Given the description of an element on the screen output the (x, y) to click on. 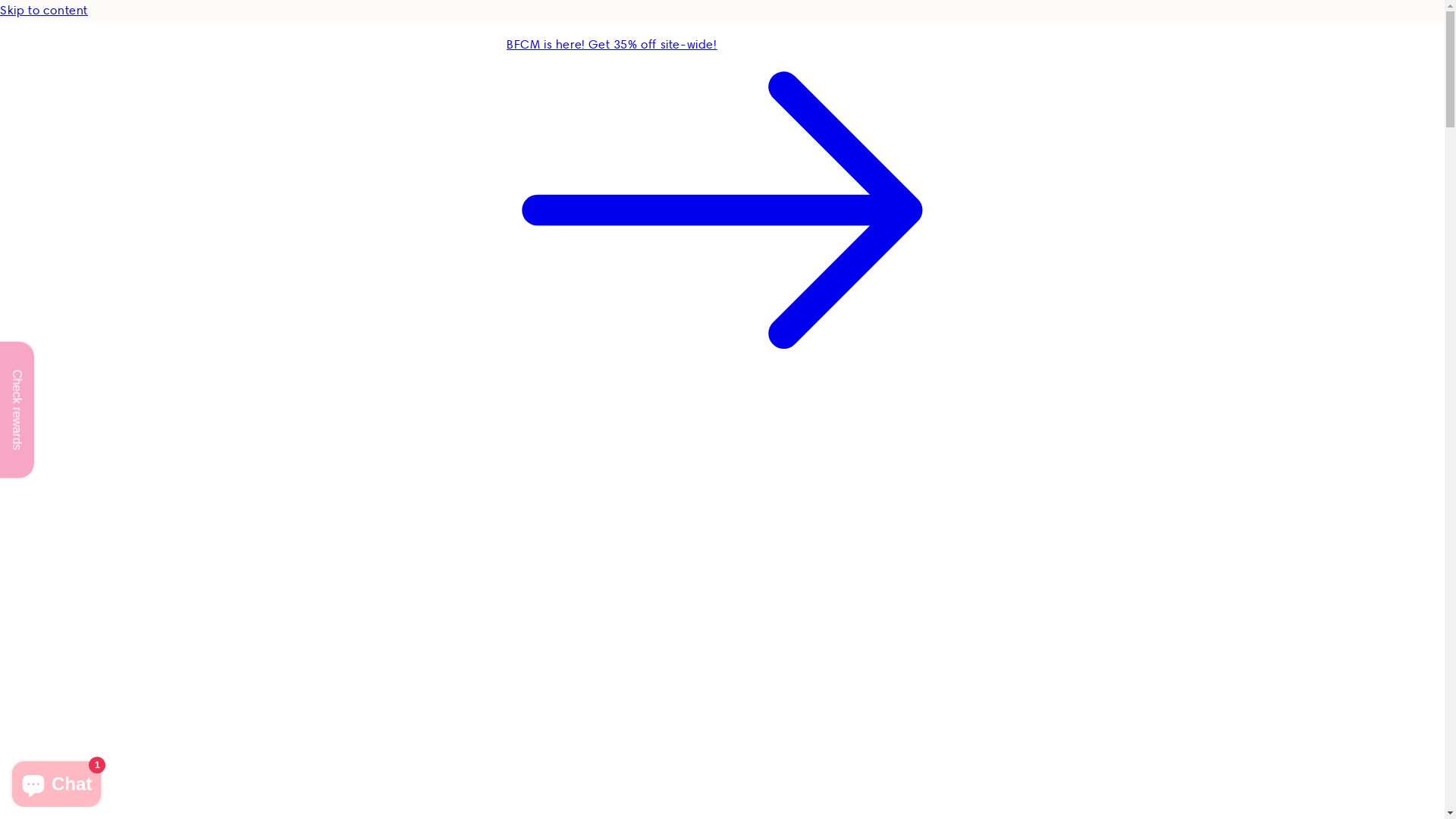
Shopify online store chat Element type: hover (56, 780)
BFCM is here! Get 35% off site-wide! Element type: text (722, 202)
Skip to content Element type: text (722, 10)
